Given the description of an element on the screen output the (x, y) to click on. 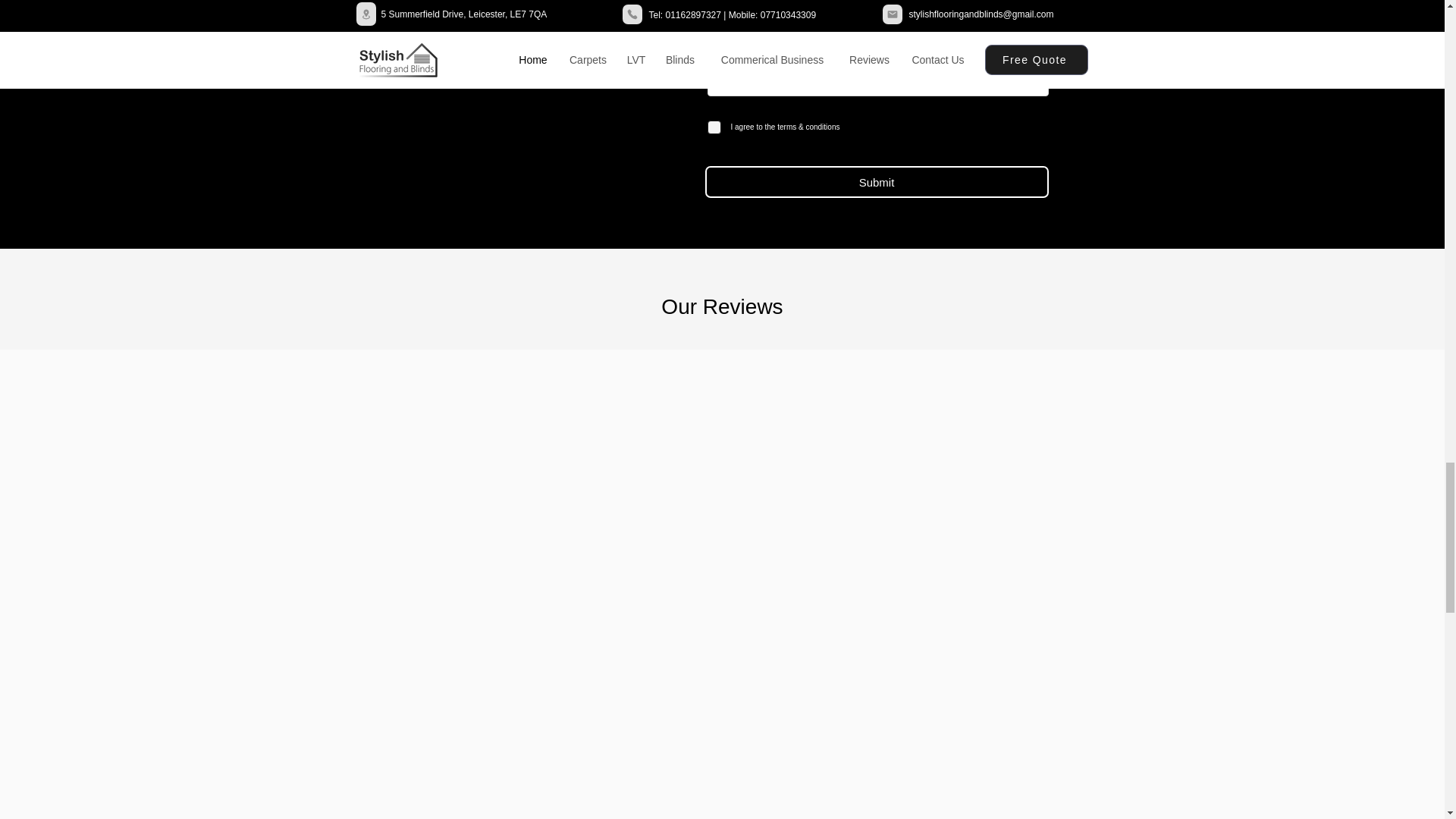
Submit (876, 182)
